Given the description of an element on the screen output the (x, y) to click on. 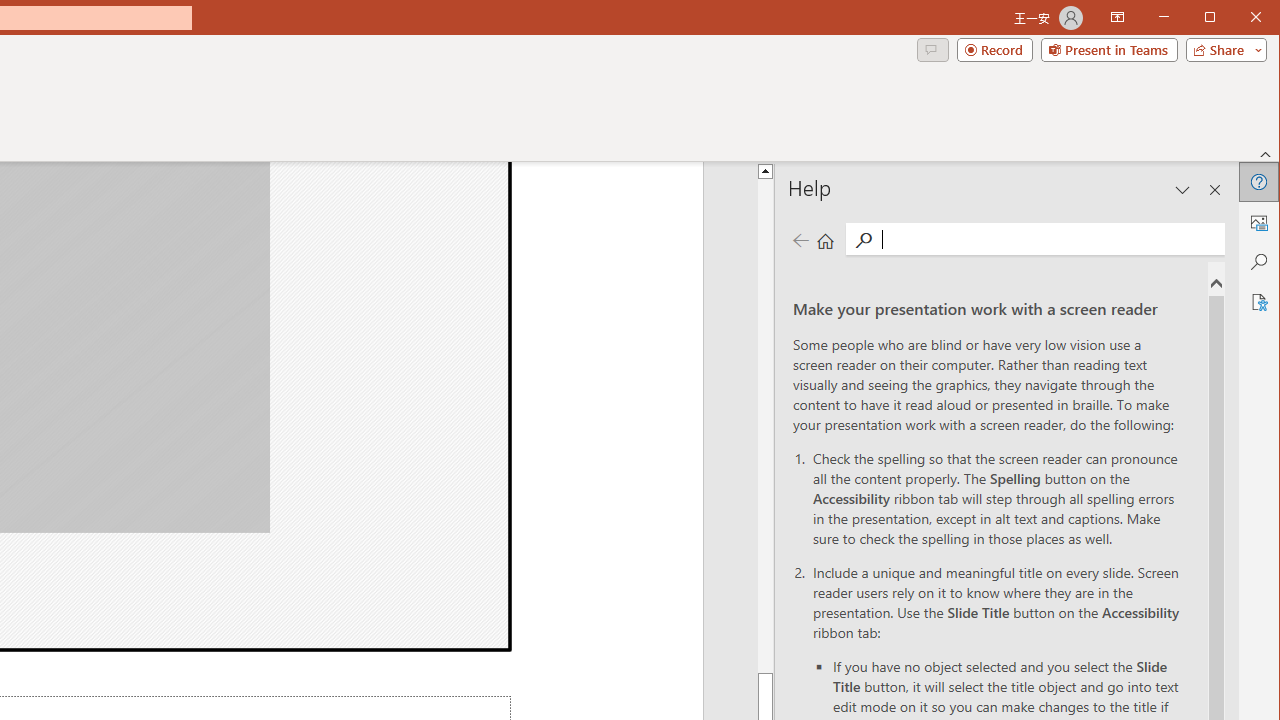
Previous page (800, 240)
